Given the description of an element on the screen output the (x, y) to click on. 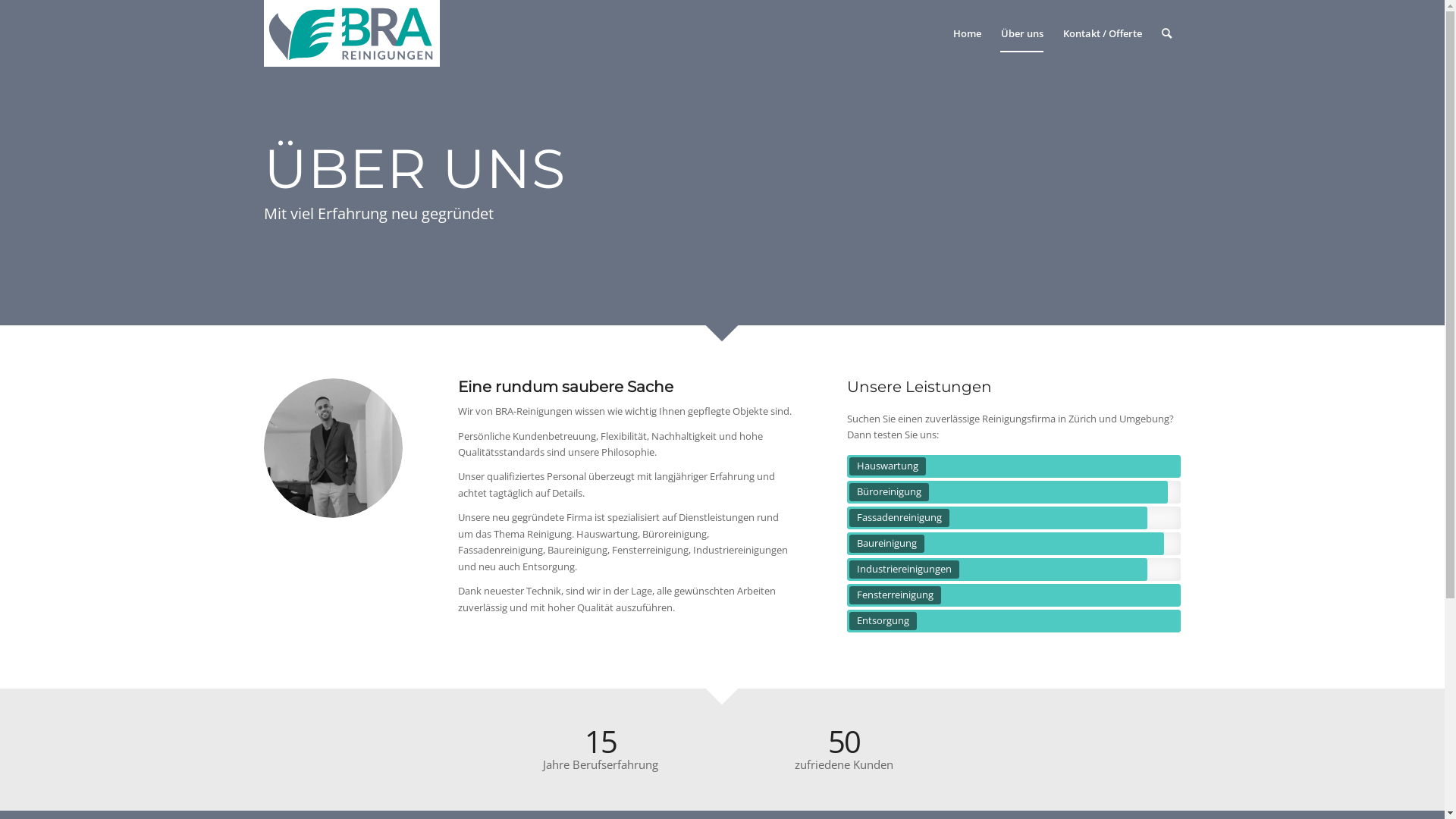
Kontakt / Offerte Element type: text (1101, 33)
Home Element type: text (967, 33)
